Given the description of an element on the screen output the (x, y) to click on. 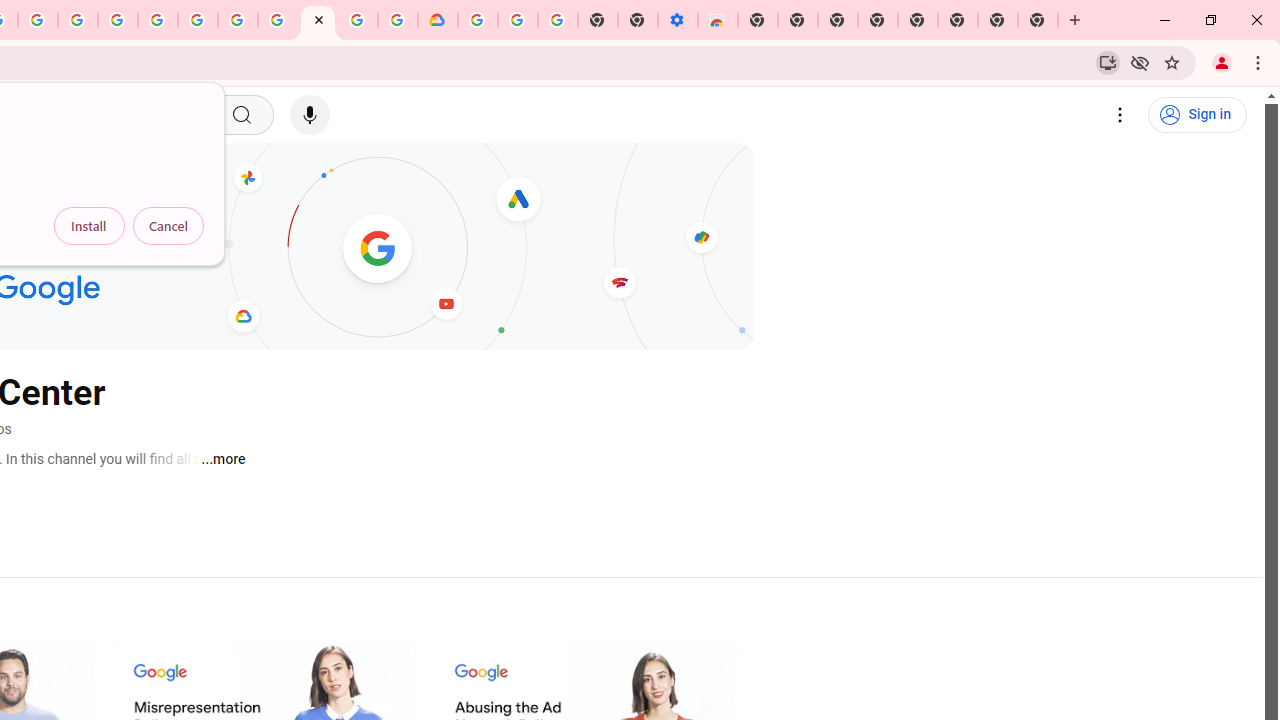
Google Account Help (517, 20)
Google Transparency Center - YouTube (317, 20)
Chrome Web Store - Accessibility extensions (717, 20)
